Given the description of an element on the screen output the (x, y) to click on. 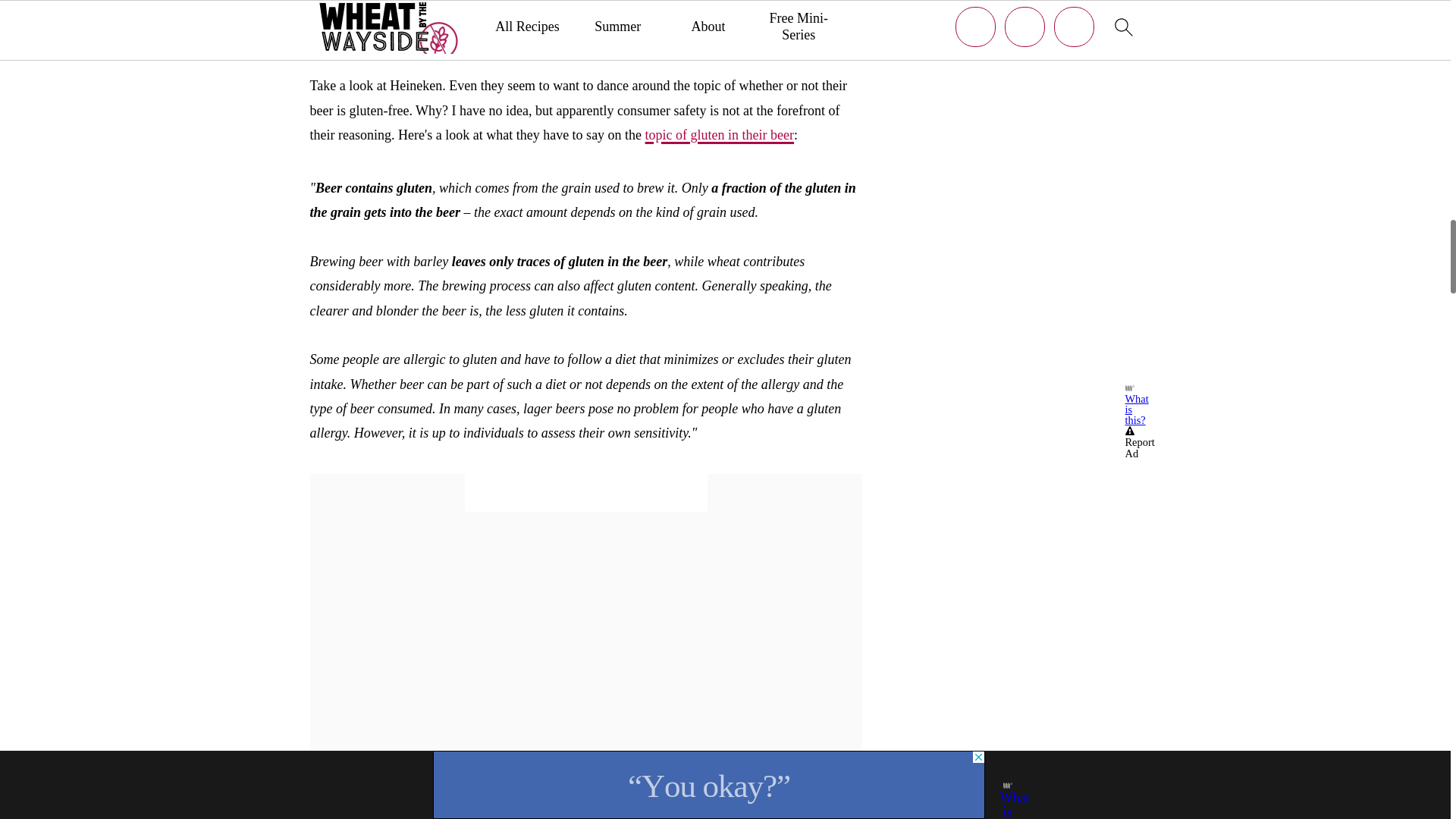
3rd party ad content (585, 492)
